Given the description of an element on the screen output the (x, y) to click on. 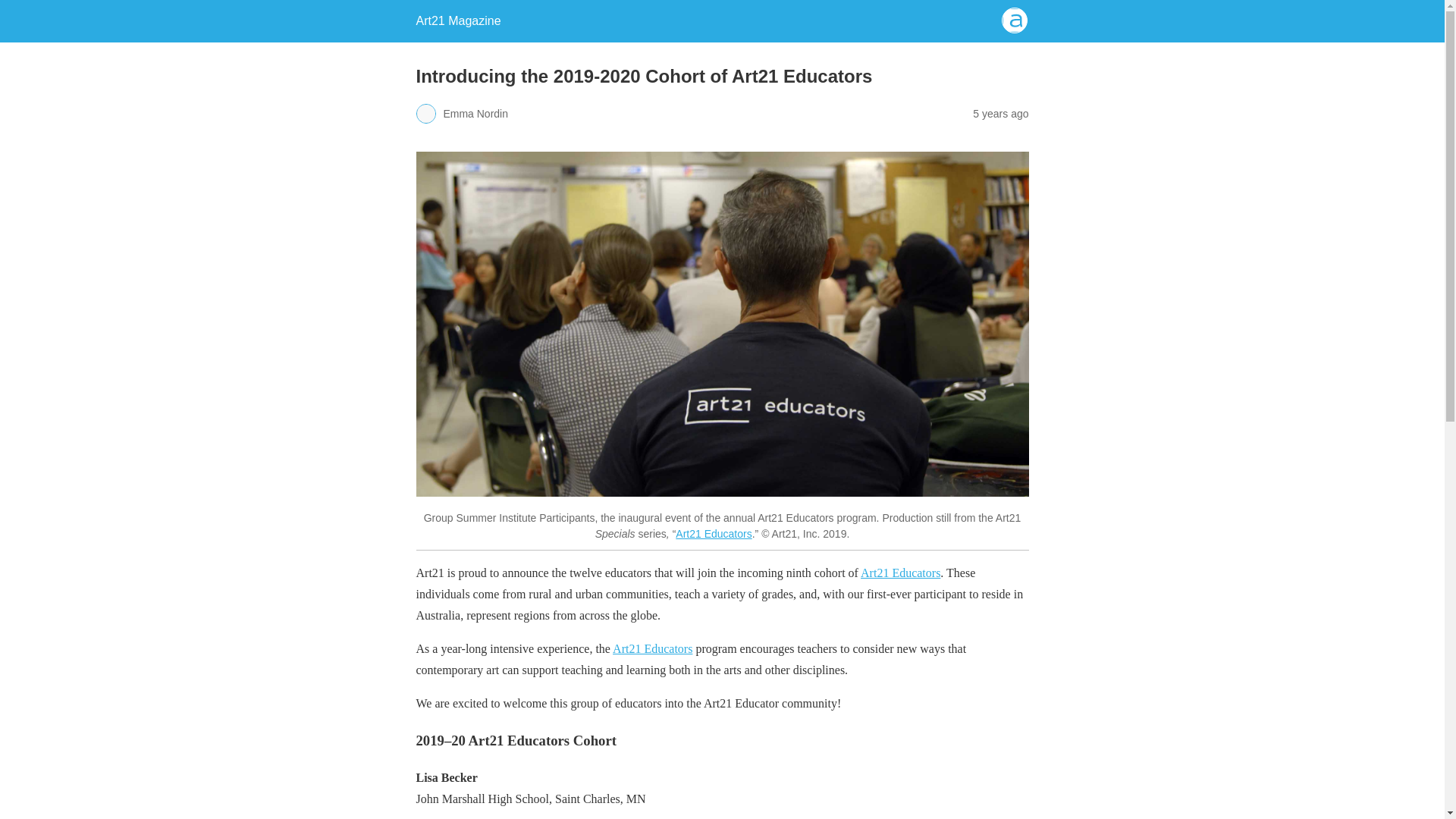
Art21 Educators (652, 648)
Art21 Magazine (457, 20)
Art21 Educators (713, 533)
Art21 Educators (900, 572)
